Given the description of an element on the screen output the (x, y) to click on. 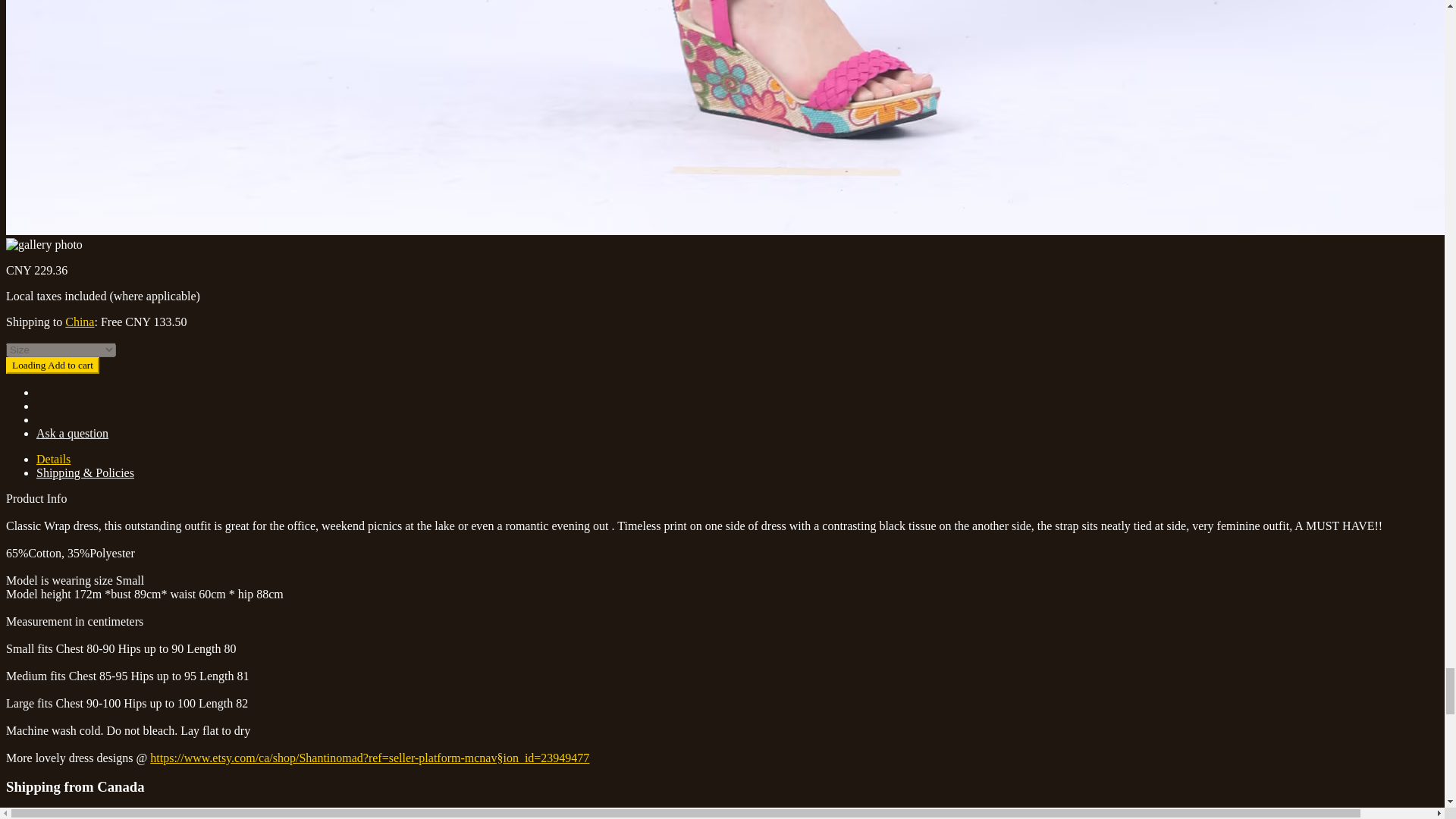
Details (52, 459)
China (79, 321)
Ask a question (71, 432)
Loading Add to cart (52, 365)
